Given the description of an element on the screen output the (x, y) to click on. 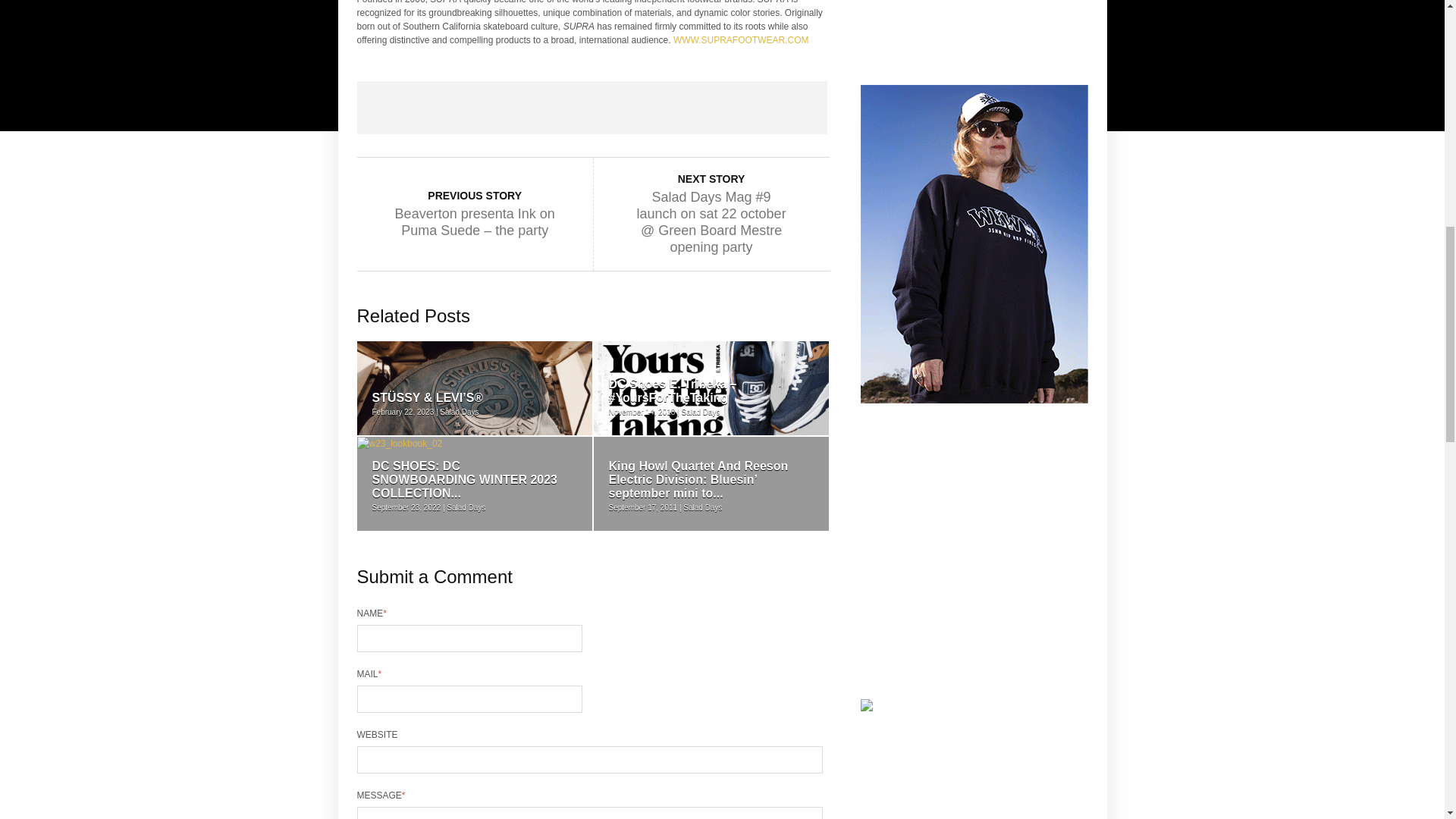
Email This (780, 107)
Share on Facebook (402, 107)
Share on Google Plus (591, 107)
Tweet This (497, 107)
Pin This (686, 107)
